Given the description of an element on the screen output the (x, y) to click on. 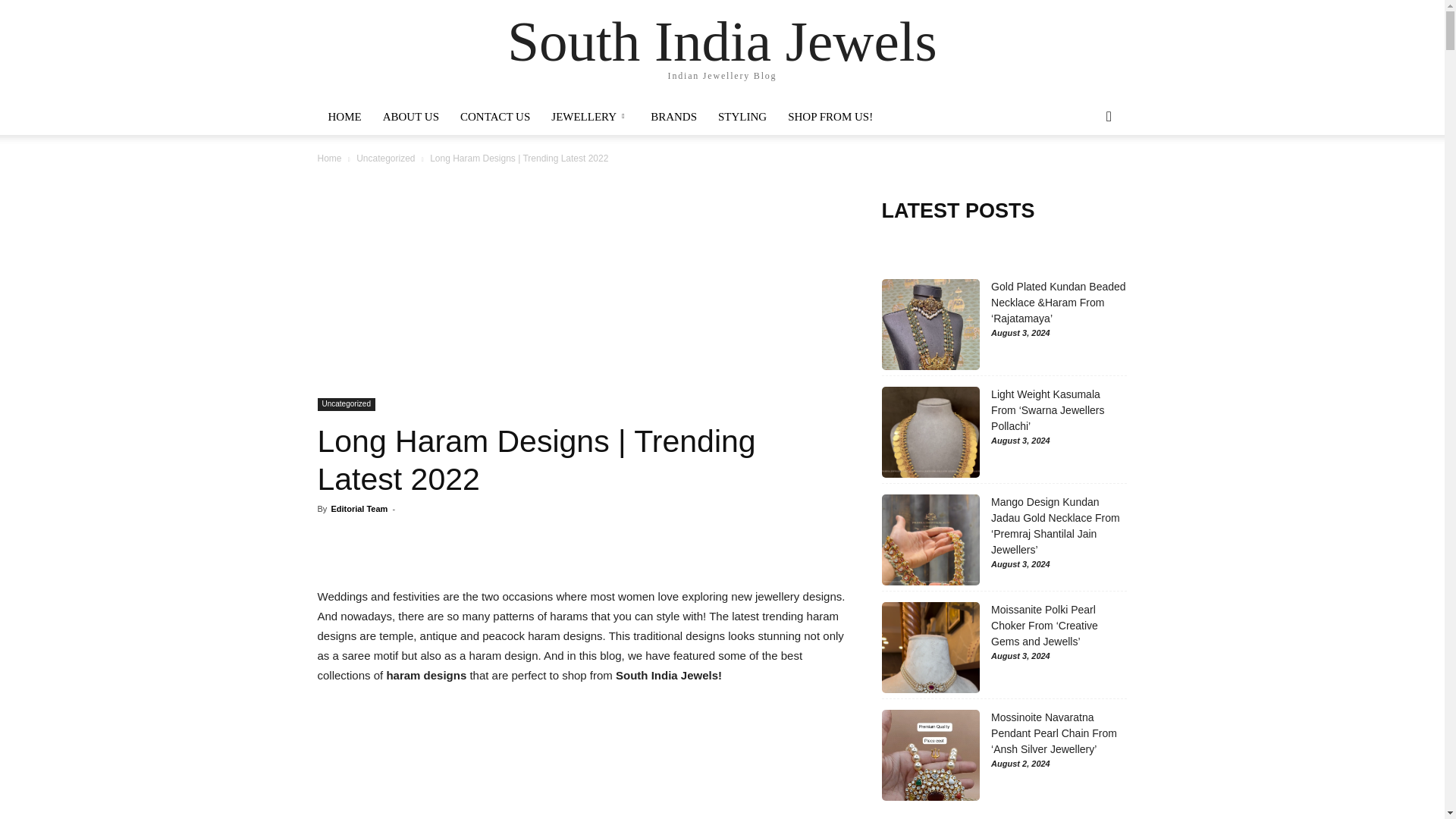
Search (1085, 177)
CONTACT US (494, 116)
ABOUT US (410, 116)
Uncategorized (345, 404)
Home (328, 158)
JEWELLERY (590, 116)
South India Jewels (721, 41)
HOME (344, 116)
SHOP FROM US! (830, 116)
BRANDS (673, 116)
